Given the description of an element on the screen output the (x, y) to click on. 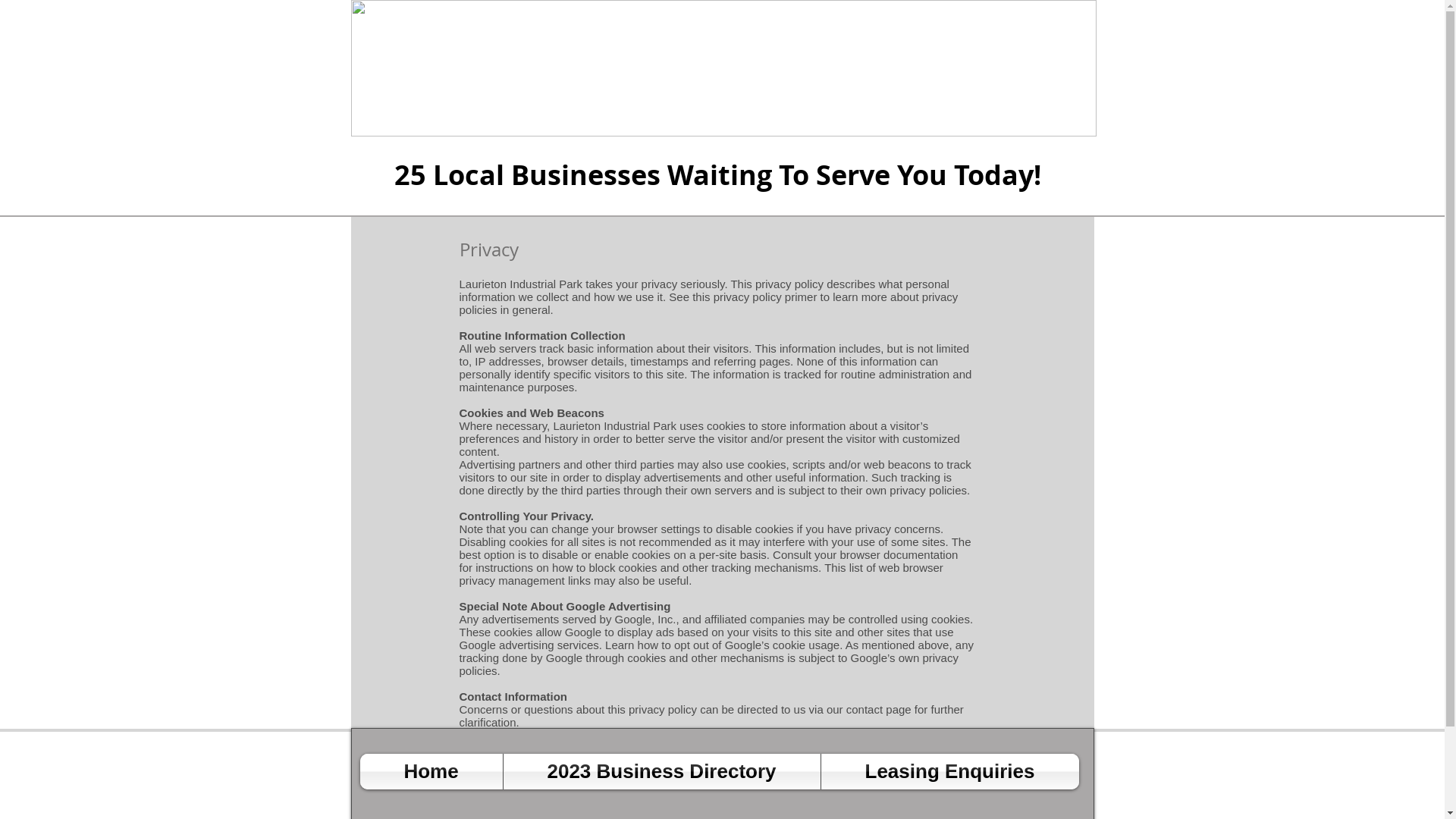
2023 Business Directory Element type: text (661, 771)
Home Element type: text (430, 771)
Leasing Enquiries Element type: text (949, 771)
lbay logo final_010915.png Element type: hover (722, 68)
